Given the description of an element on the screen output the (x, y) to click on. 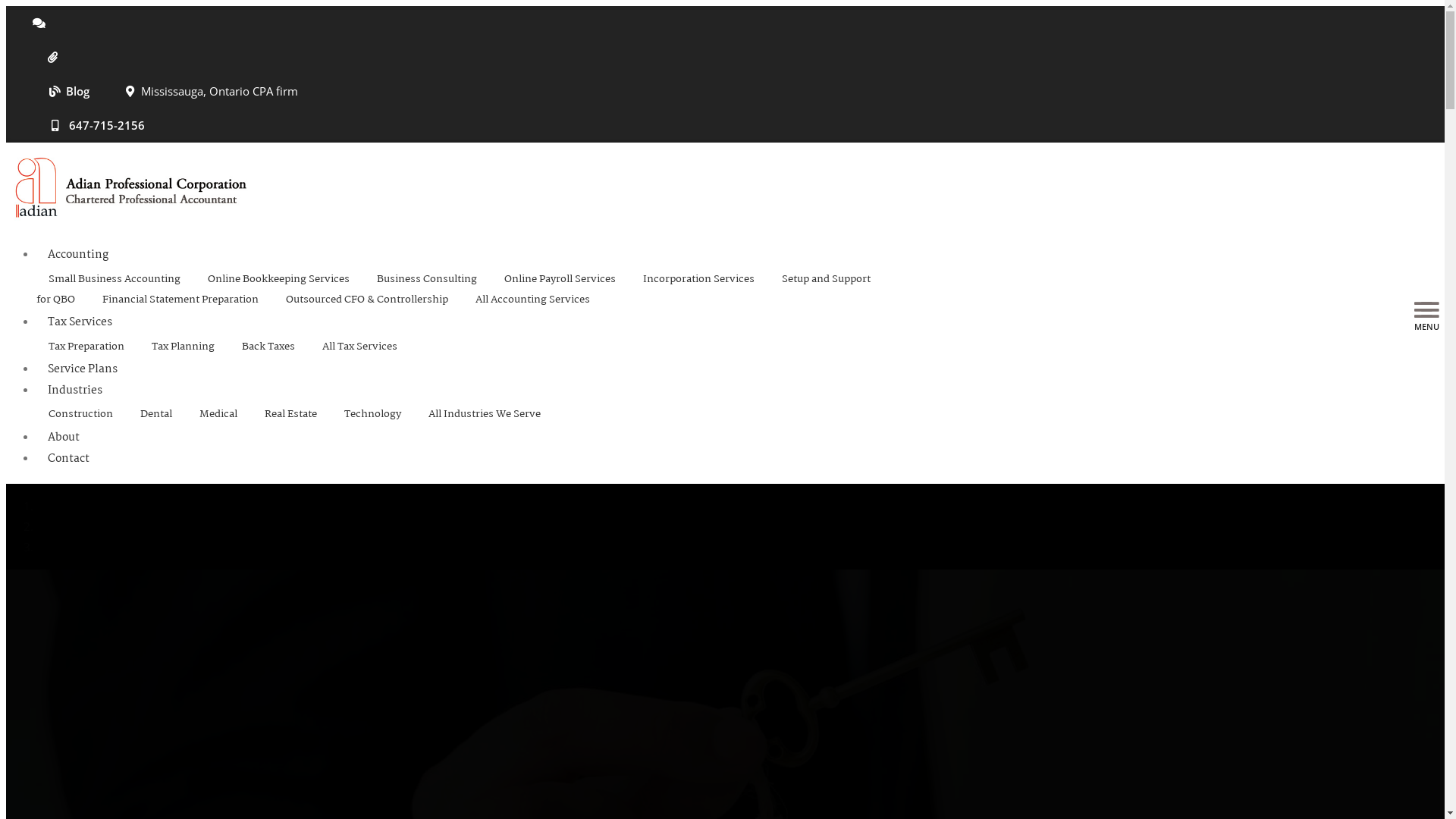
Business Consulting Element type: text (426, 278)
Service Plans Element type: text (82, 368)
Financial Statement Preparation Element type: text (180, 299)
647-715-2156 Element type: text (88, 125)
Contact Element type: text (62, 458)
Dental Element type: text (156, 413)
Online Payroll Services Element type: text (559, 278)
Accounting Element type: text (77, 254)
Setup and Support for QBO Element type: text (453, 288)
Tax Services Element type: text (79, 321)
Small Business Accounting Element type: text (114, 278)
Blog Element type: text (60, 91)
Technology Element type: text (372, 413)
Industries Element type: text (74, 390)
All Accounting Services Element type: text (532, 299)
About Element type: text (63, 437)
Tax Preparation Element type: text (86, 346)
All Industries We Serve Element type: text (484, 413)
Real Estate Element type: text (290, 413)
Outsourced CFO & Controllership Element type: text (366, 299)
Online Bookkeeping Services Element type: text (278, 278)
Construction Element type: text (80, 413)
Tax Planning Element type: text (182, 346)
Back Taxes Element type: text (268, 346)
Medical Element type: text (218, 413)
Incorporation Services Element type: text (698, 278)
All Tax Services Element type: text (359, 346)
